Given the description of an element on the screen output the (x, y) to click on. 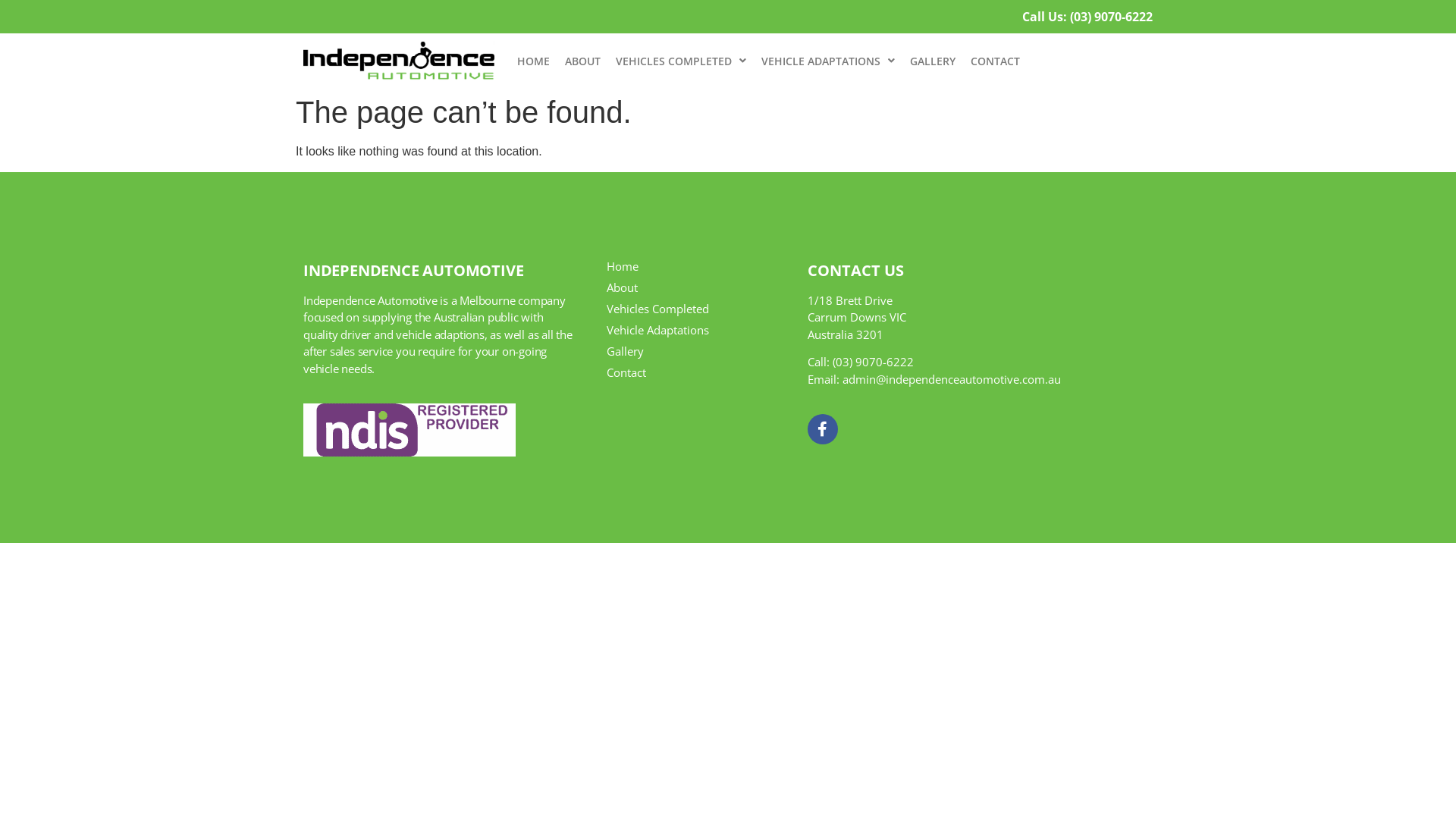
Vehicle Adaptations Element type: text (691, 329)
Vehicles Completed Element type: text (691, 308)
CONTACT Element type: text (995, 60)
HOME Element type: text (533, 60)
admin@independenceautomotive.com.au Element type: text (951, 378)
(03) 9070-6222 Element type: text (872, 361)
About Element type: text (691, 287)
GALLERY Element type: text (932, 60)
Gallery Element type: text (691, 350)
VEHICLES COMPLETED Element type: text (680, 60)
Contact Element type: text (691, 371)
(03) 9070-6222 Element type: text (1111, 16)
VEHICLE ADAPTATIONS Element type: text (827, 60)
Home Element type: text (691, 265)
ABOUT Element type: text (582, 60)
